Given the description of an element on the screen output the (x, y) to click on. 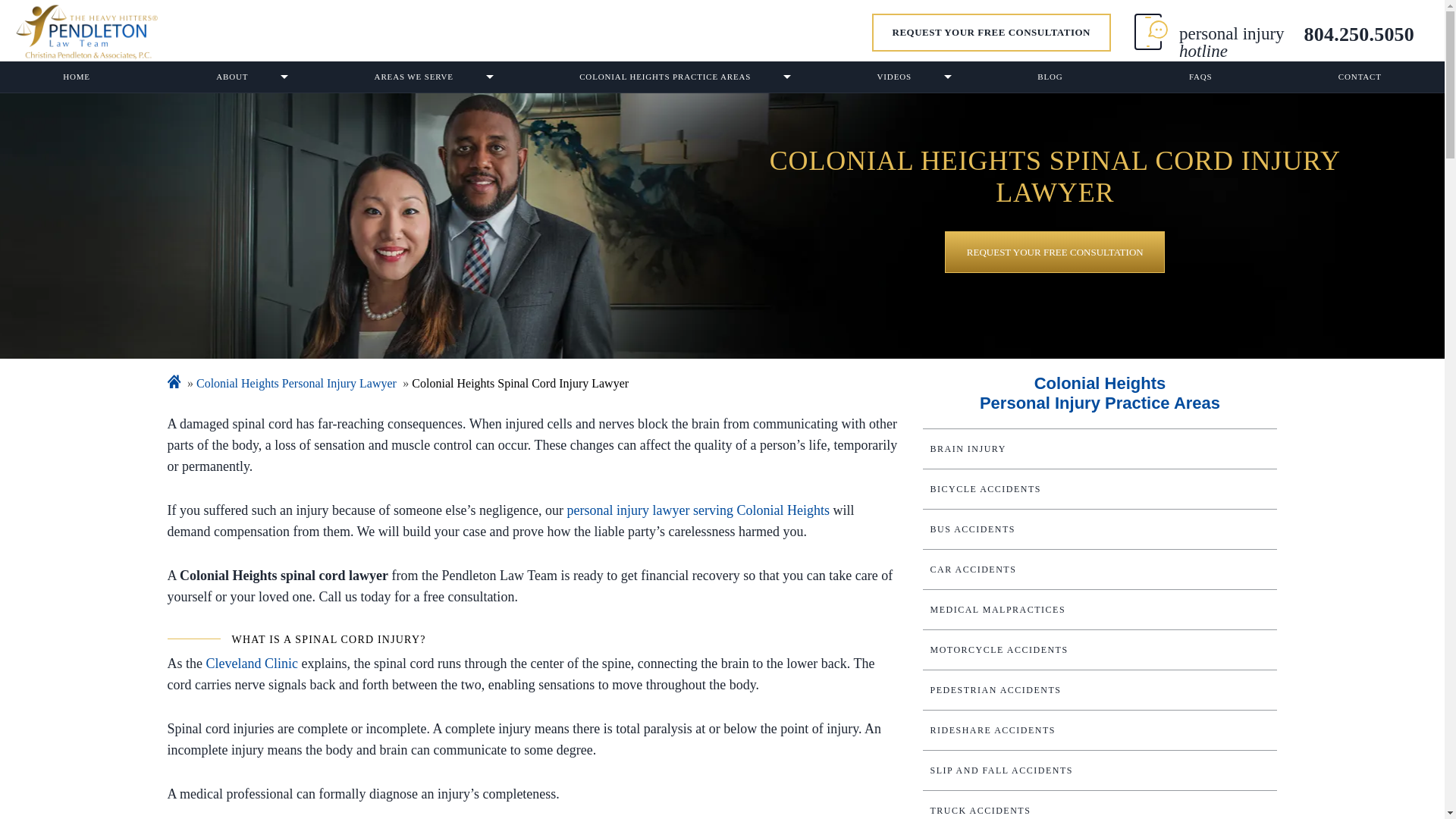
BLOG (1049, 77)
REQUEST YOUR FREE CONSULTATION (991, 32)
AREAS WE SERVE (413, 77)
HOME (76, 77)
COLONIAL HEIGHTS PRACTICE AREAS (664, 77)
REQUEST YOUR FREE CONSULTATION (1054, 251)
VIDEOS (893, 77)
ABOUT (231, 77)
804.250.5050 (1358, 42)
FAQS (1200, 77)
